Given the description of an element on the screen output the (x, y) to click on. 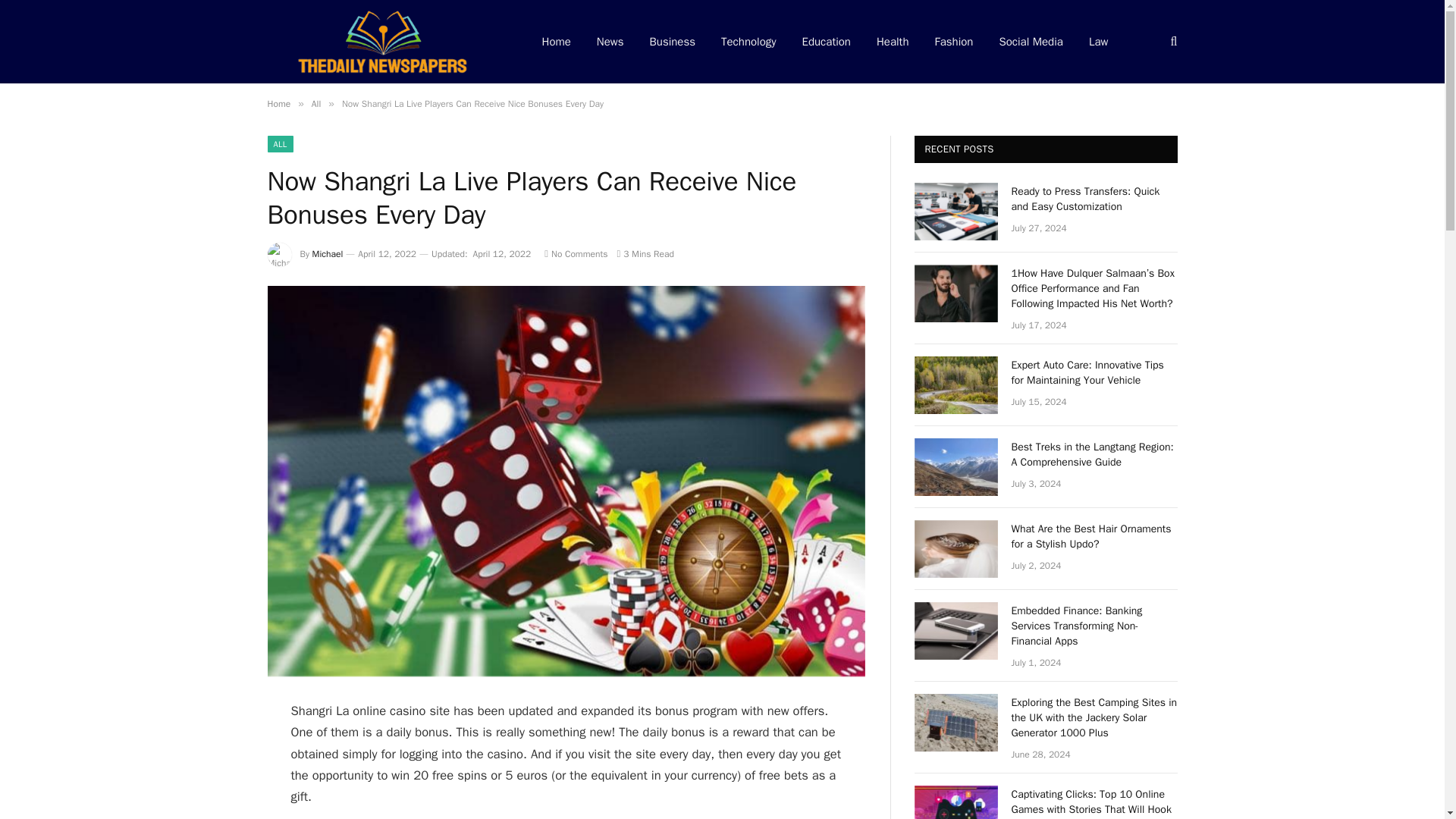
No Comments (575, 254)
Social Media (1030, 41)
Education (826, 41)
Michael (328, 254)
Ready to Press Transfers: Quick and Easy Customization (955, 211)
ALL (279, 143)
Ready to Press Transfers: Quick and Easy Customization (1094, 199)
Posts by Michael (328, 254)
Technology (748, 41)
thedailynewspapers (384, 41)
Home (277, 103)
